Given the description of an element on the screen output the (x, y) to click on. 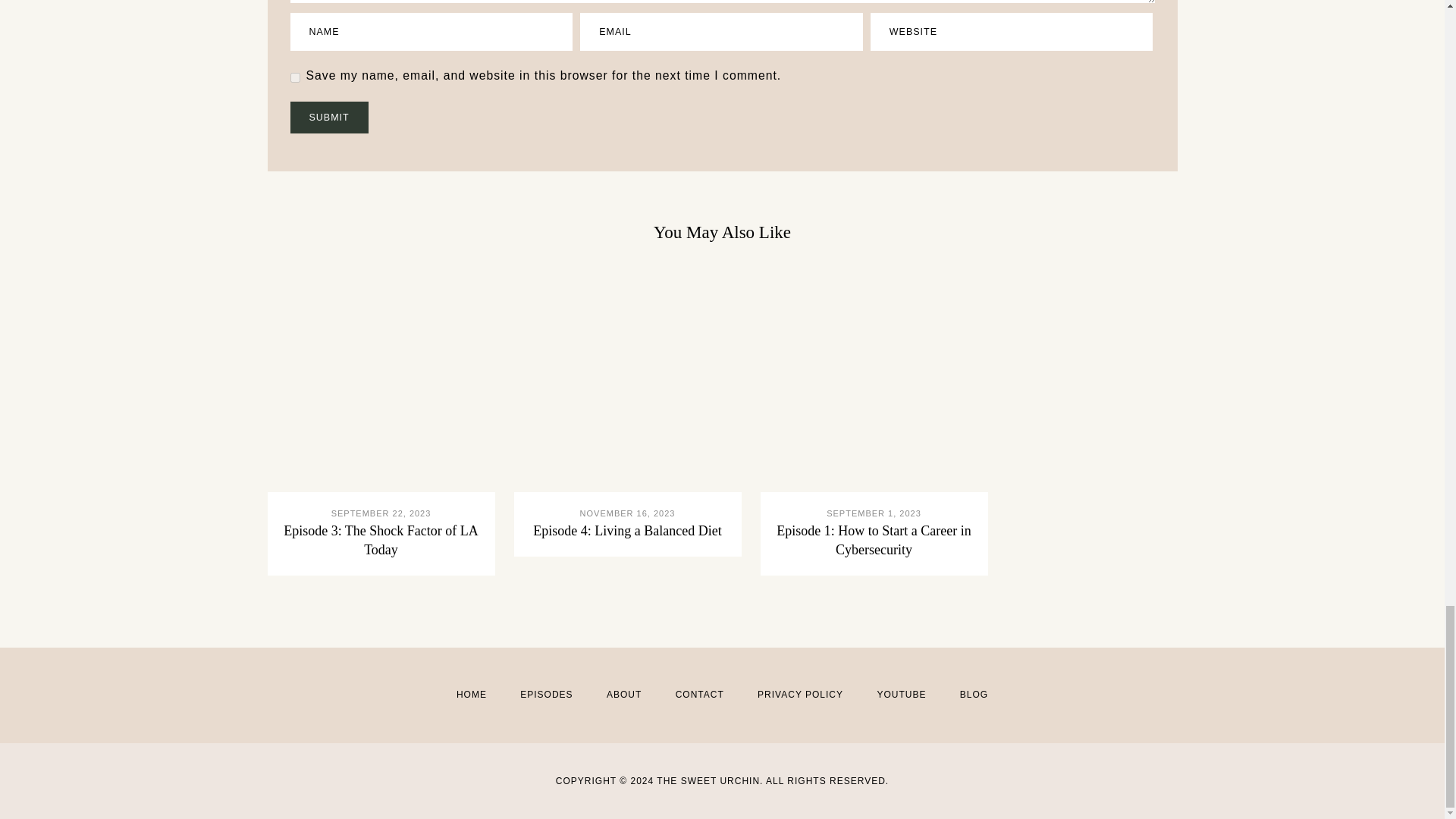
YOUTUBE (901, 694)
Episode 1: How to Start a Career in Cybersecurity (873, 540)
Episode 3: The Shock Factor of LA Today (381, 540)
yes (294, 77)
Submit (328, 117)
Submit (328, 117)
BLOG (973, 694)
PRIVACY POLICY (800, 694)
ABOUT (624, 694)
CONTACT (699, 694)
Episode 4: Living a Balanced Diet (626, 530)
HOME (471, 694)
EPISODES (545, 694)
